Given the description of an element on the screen output the (x, y) to click on. 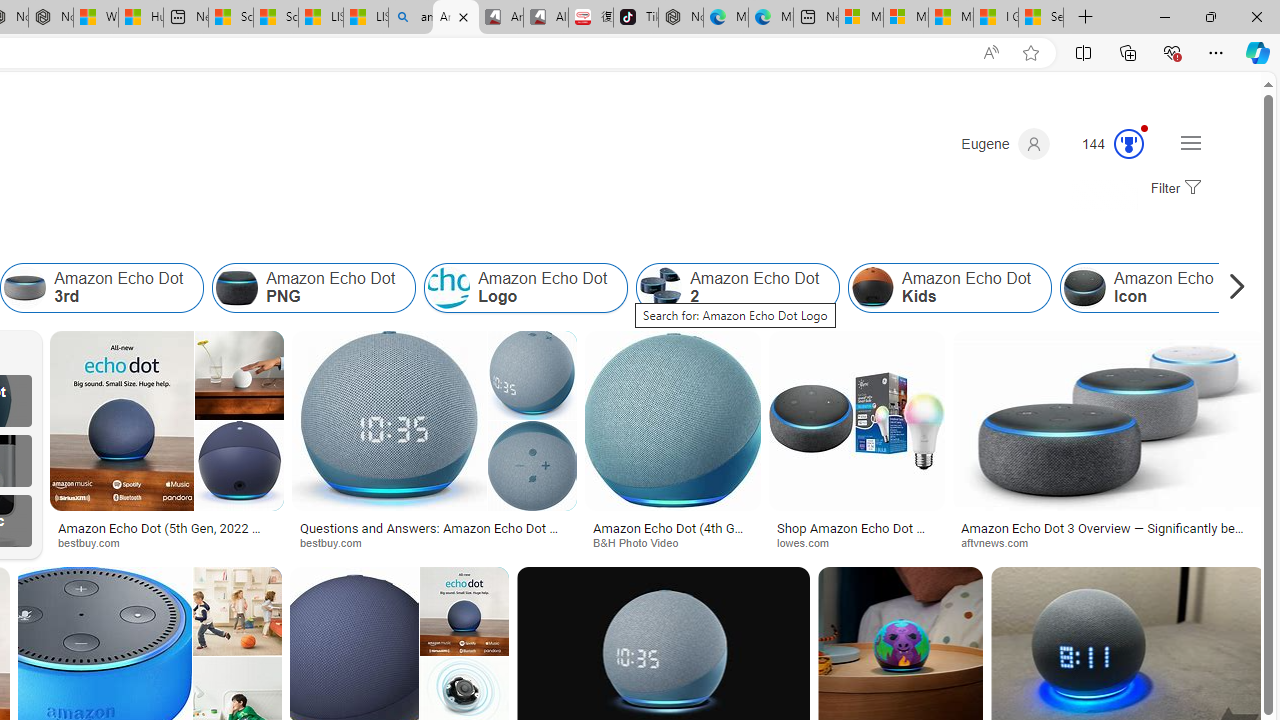
Scroll right (1231, 287)
Amazon Echo Dot Logo (449, 287)
Microsoft account | Privacy (905, 17)
Filter (1173, 189)
aftvnews.com (1109, 542)
Amazon Echo Dot Icon (1162, 287)
